Given the description of an element on the screen output the (x, y) to click on. 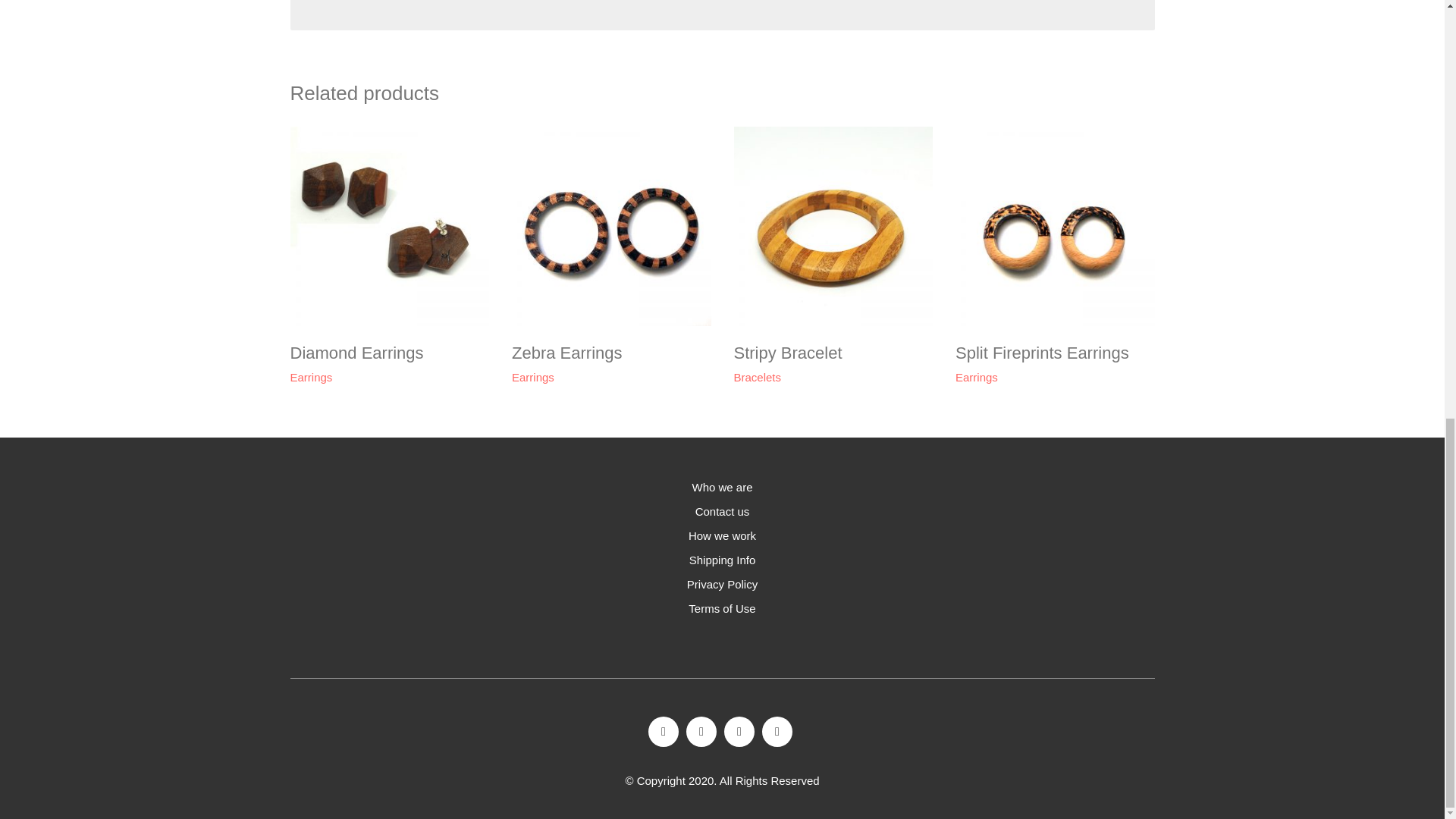
Facebook (662, 731)
YouTube (776, 731)
Instagram (700, 731)
Pinterest (738, 731)
